Given the description of an element on the screen output the (x, y) to click on. 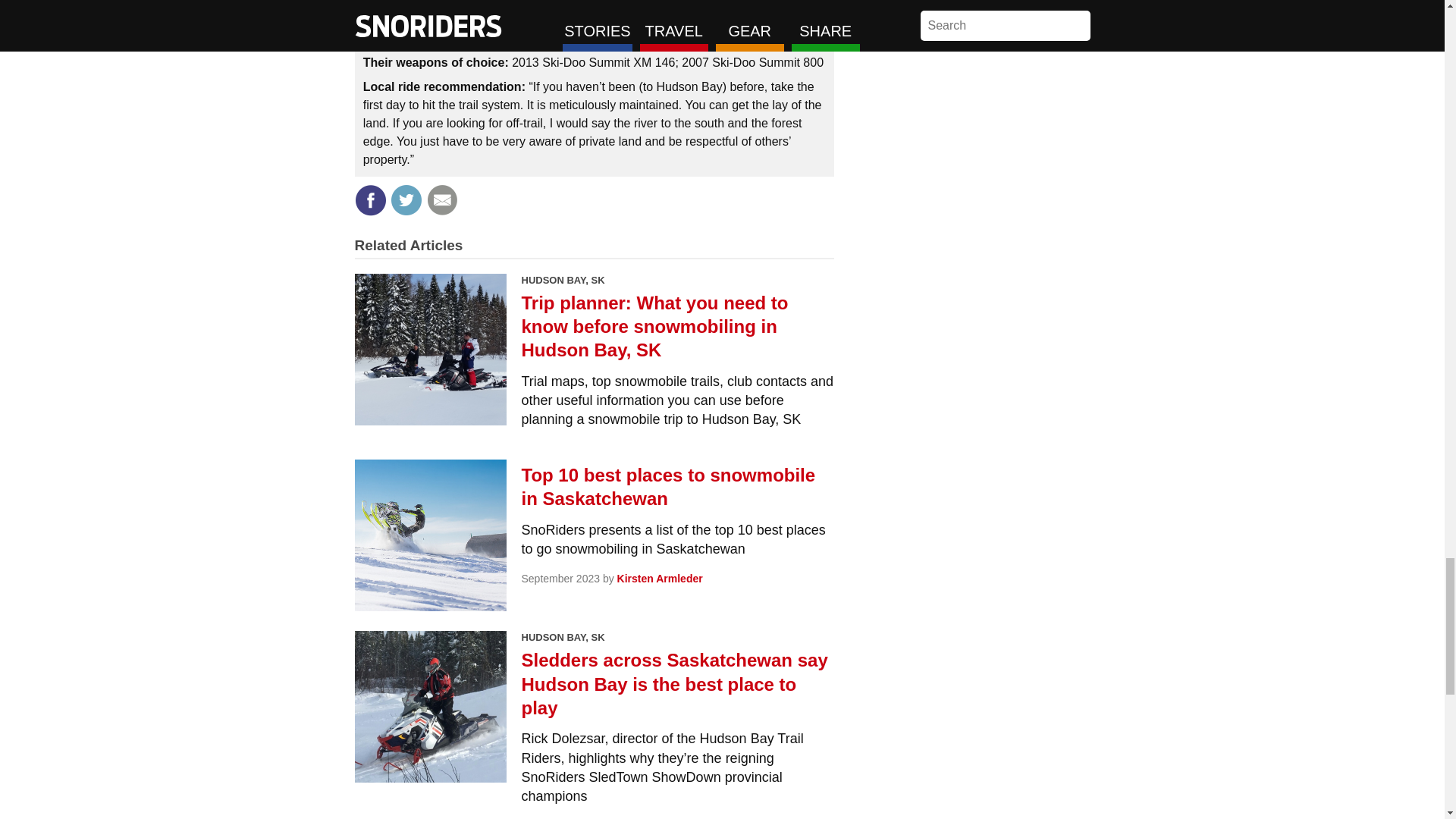
Top 10 best places to snowmobile in Saskatchewan (677, 486)
HUDSON BAY, SK (563, 279)
HUDSON BAY, SK (563, 636)
Kirsten Armleder (660, 578)
